Given the description of an element on the screen output the (x, y) to click on. 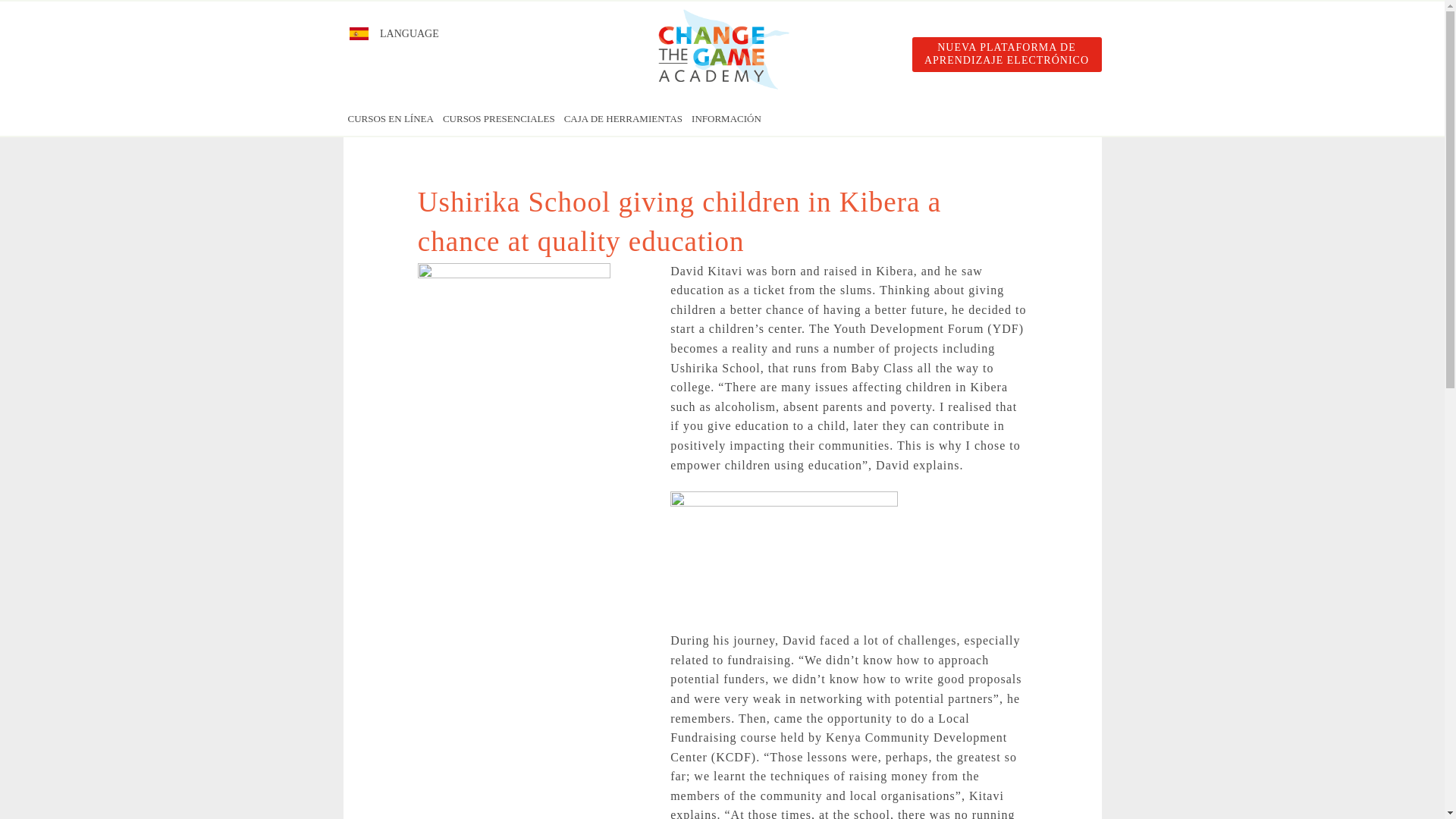
ACERCA DE NOSOTROS (726, 323)
 LANGUAGE   (393, 33)
CAJA DE HERRAMIENTAS (726, 186)
EJEMPLOS (726, 220)
CAJA DE HERRAMIENTAS (623, 118)
CONTACTO (726, 357)
CURSOS PRESENCIALES (498, 118)
APP (726, 288)
